Given the description of an element on the screen output the (x, y) to click on. 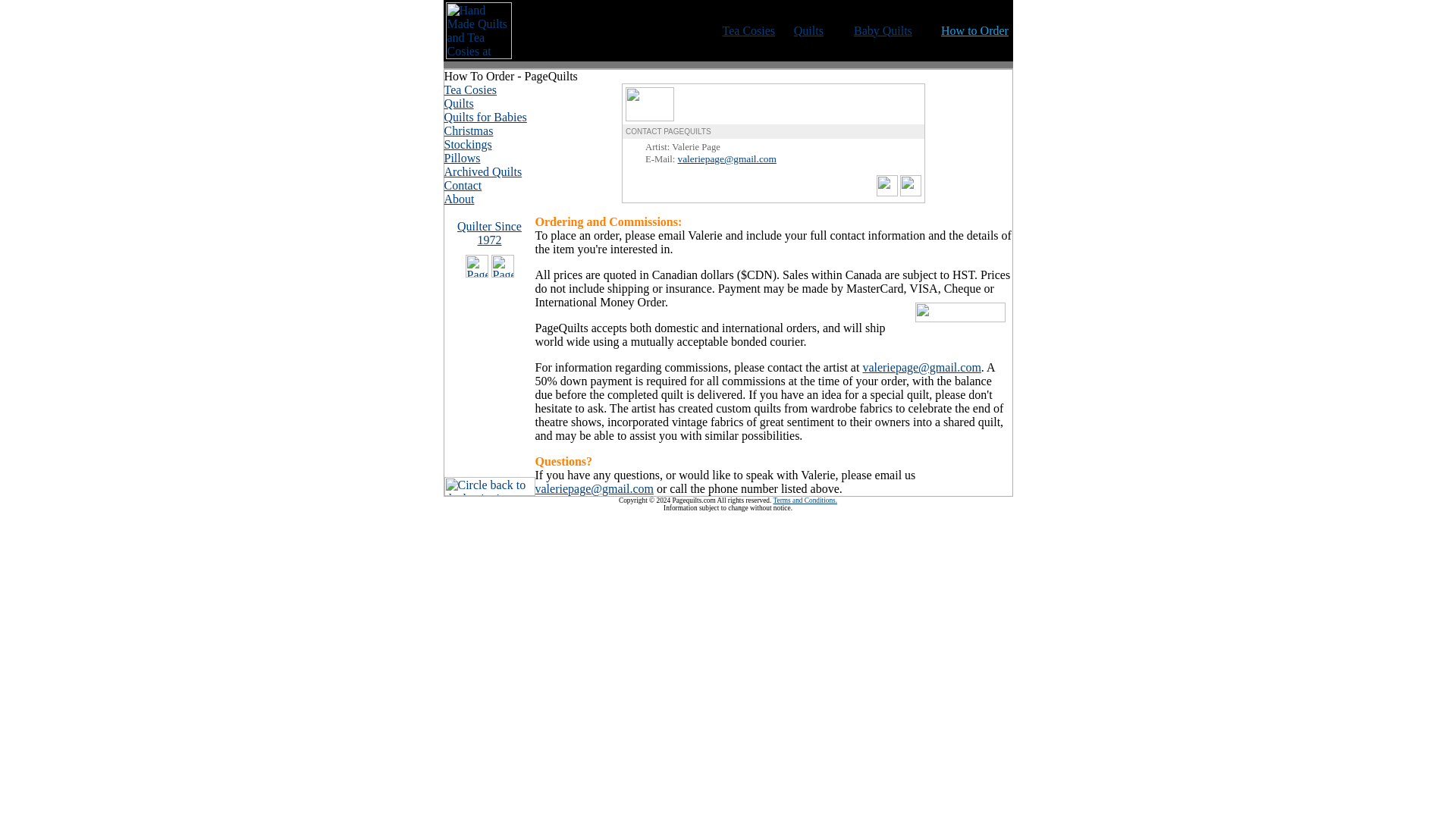
Quilts for Babies (485, 116)
About (459, 198)
Tea Cosies (749, 30)
Christmas Stockings (468, 137)
Pillows (462, 157)
Quilter Since 1972 (489, 233)
Baby Quilts (882, 30)
Quilts (459, 103)
Tea Cosies (470, 89)
Archived Quilts (483, 171)
How to Order (974, 30)
Terms and Conditions. (805, 500)
Contact (462, 185)
Quilts (808, 30)
